Given the description of an element on the screen output the (x, y) to click on. 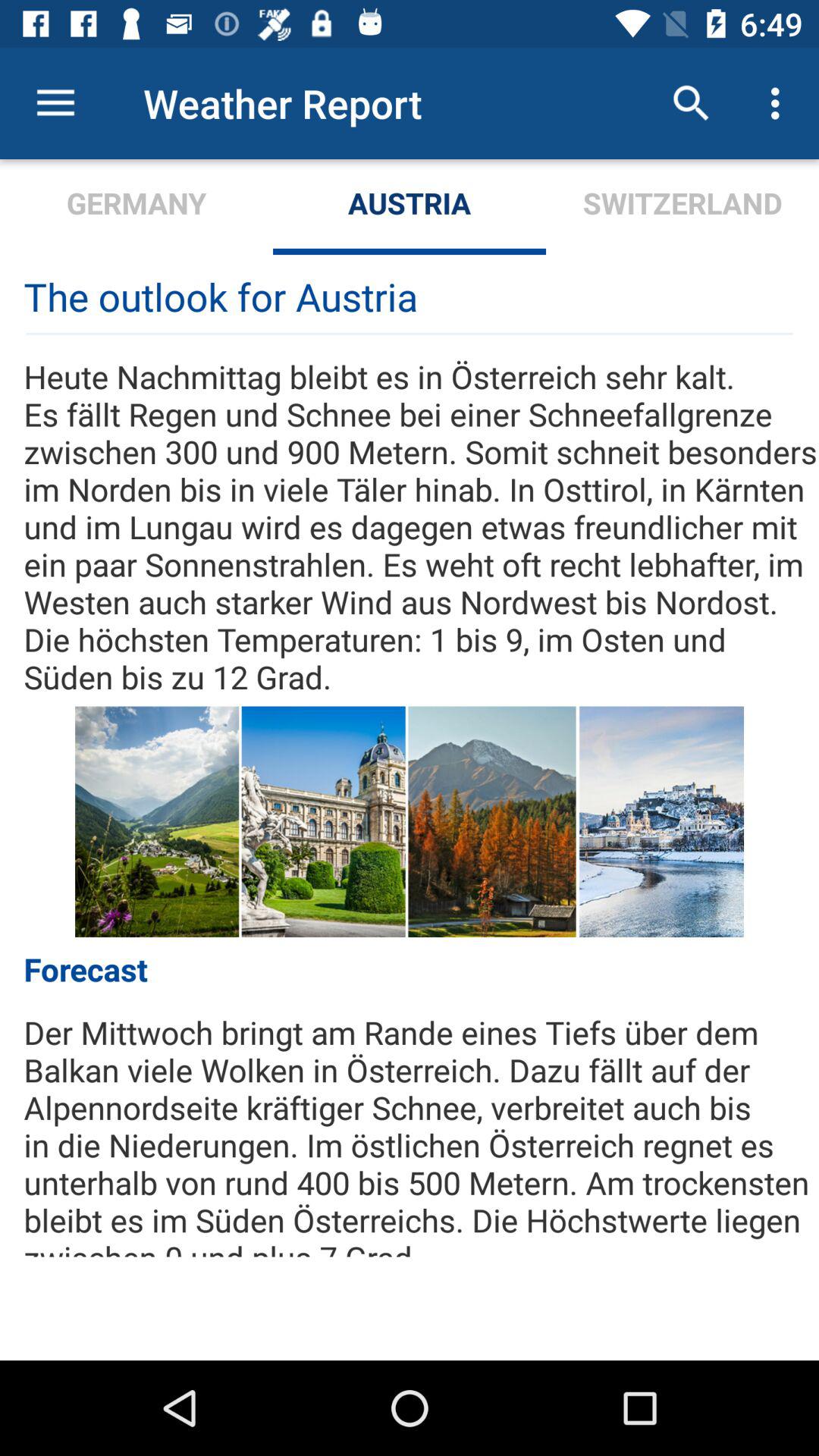
tap item to the right of the austria item (691, 103)
